Given the description of an element on the screen output the (x, y) to click on. 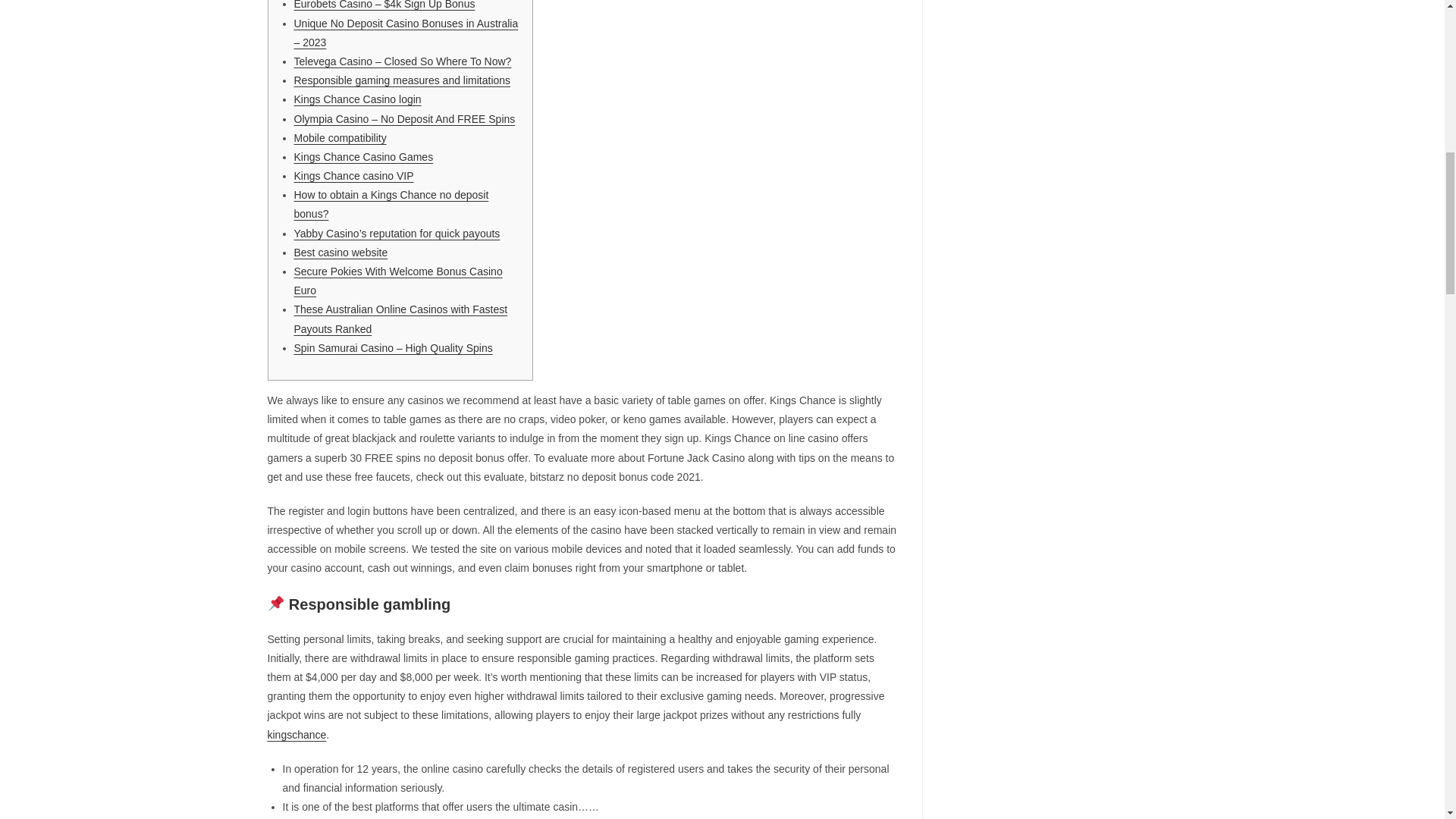
Kings Chance Casino Games (363, 156)
Mobile compatibility (340, 137)
Kings Chance Casino login (358, 99)
Responsible gaming measures and limitations (402, 80)
